Given the description of an element on the screen output the (x, y) to click on. 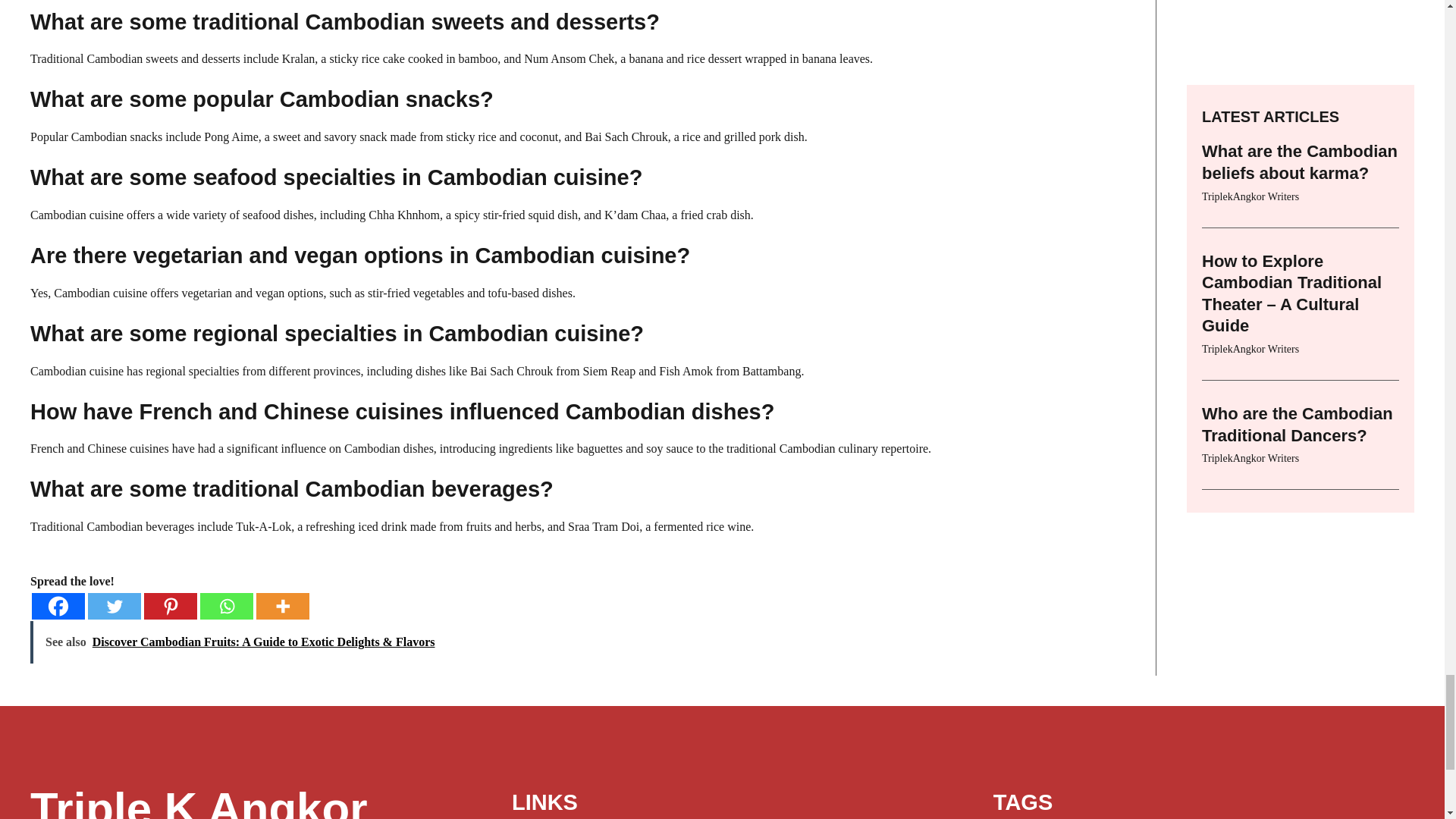
More (282, 605)
Whatsapp (226, 605)
Pinterest (170, 605)
Facebook (58, 605)
Twitter (114, 605)
